Given the description of an element on the screen output the (x, y) to click on. 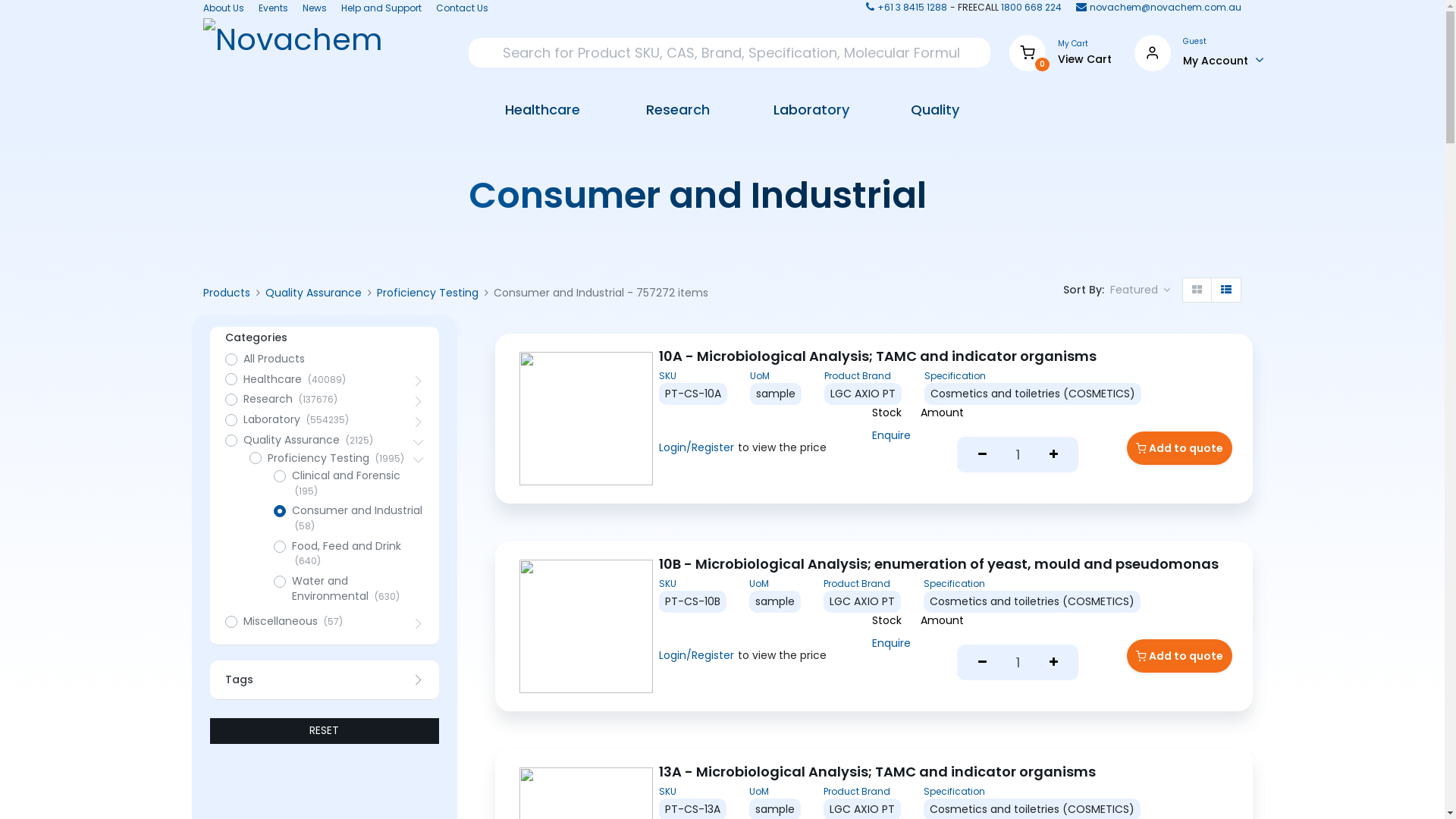
Contact Us Element type: text (462, 8)
Research Element type: text (664, 109)
View Cart Element type: text (1084, 59)
Fold Element type: hover (418, 380)
Remove one Element type: hover (981, 454)
RESET Element type: text (324, 730)
Laboratory Element type: text (798, 109)
Novachem Reference Standards Australia Element type: hover (294, 52)
News Element type: text (314, 8)
My Account Element type: text (1223, 59)
0 Element type: text (1027, 51)
Help and Support Element type: text (381, 8)
Events Element type: text (273, 8)
Healthcare Element type: text (532, 109)
Proficiency Testing Element type: text (427, 292)
Featured Element type: text (1140, 290)
Fold Element type: hover (418, 623)
Quality Element type: text (923, 109)
13A - Microbiological Analysis; TAMC and indicator organisms Element type: text (946, 771)
Add one Element type: hover (1052, 662)
10A - Microbiological Analysis; TAMC and indicator organisms Element type: text (946, 355)
Add to quote Element type: text (1179, 447)
Remove one Element type: hover (981, 662)
Fold Element type: hover (418, 421)
Add to quote Element type: text (1179, 655)
About Us Element type: text (223, 8)
Login/Register Element type: text (696, 447)
Products Element type: text (226, 292)
Unfold Element type: hover (418, 441)
Unfold Element type: hover (418, 459)
Grid Element type: hover (1196, 290)
Quality Assurance Element type: text (313, 292)
Add one Element type: hover (1052, 454)
Fold Element type: hover (418, 400)
List Element type: hover (1226, 290)
Login/Register Element type: text (696, 655)
